Given the description of an element on the screen output the (x, y) to click on. 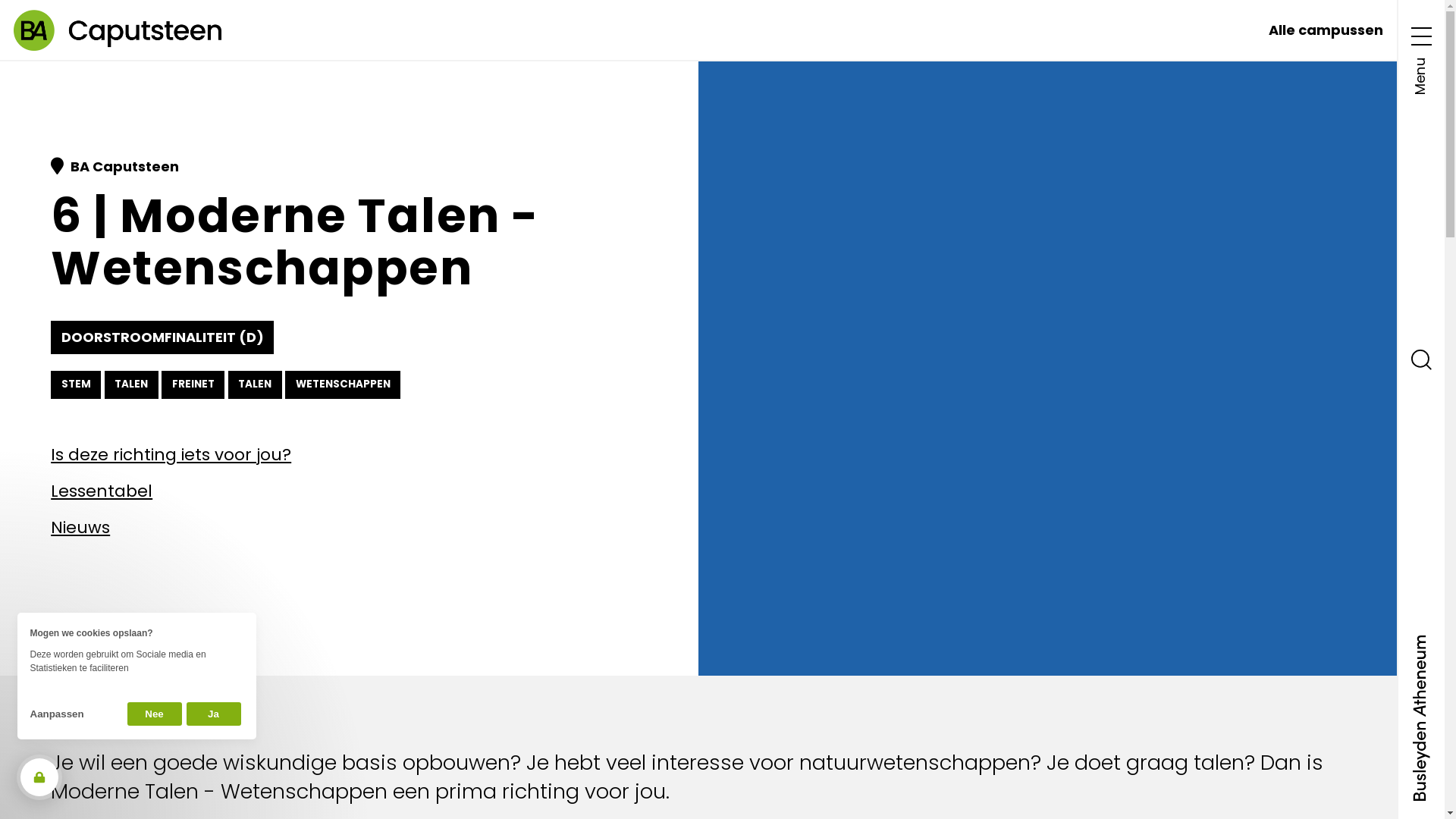
Lessentabel Element type: text (348, 491)
Nieuws Element type: text (348, 527)
Menu Element type: text (1421, 56)
Is deze richting iets voor jou? Element type: text (348, 454)
Confirmic Element type: hover (136, 653)
Alle campussen Element type: text (1325, 29)
